Given the description of an element on the screen output the (x, y) to click on. 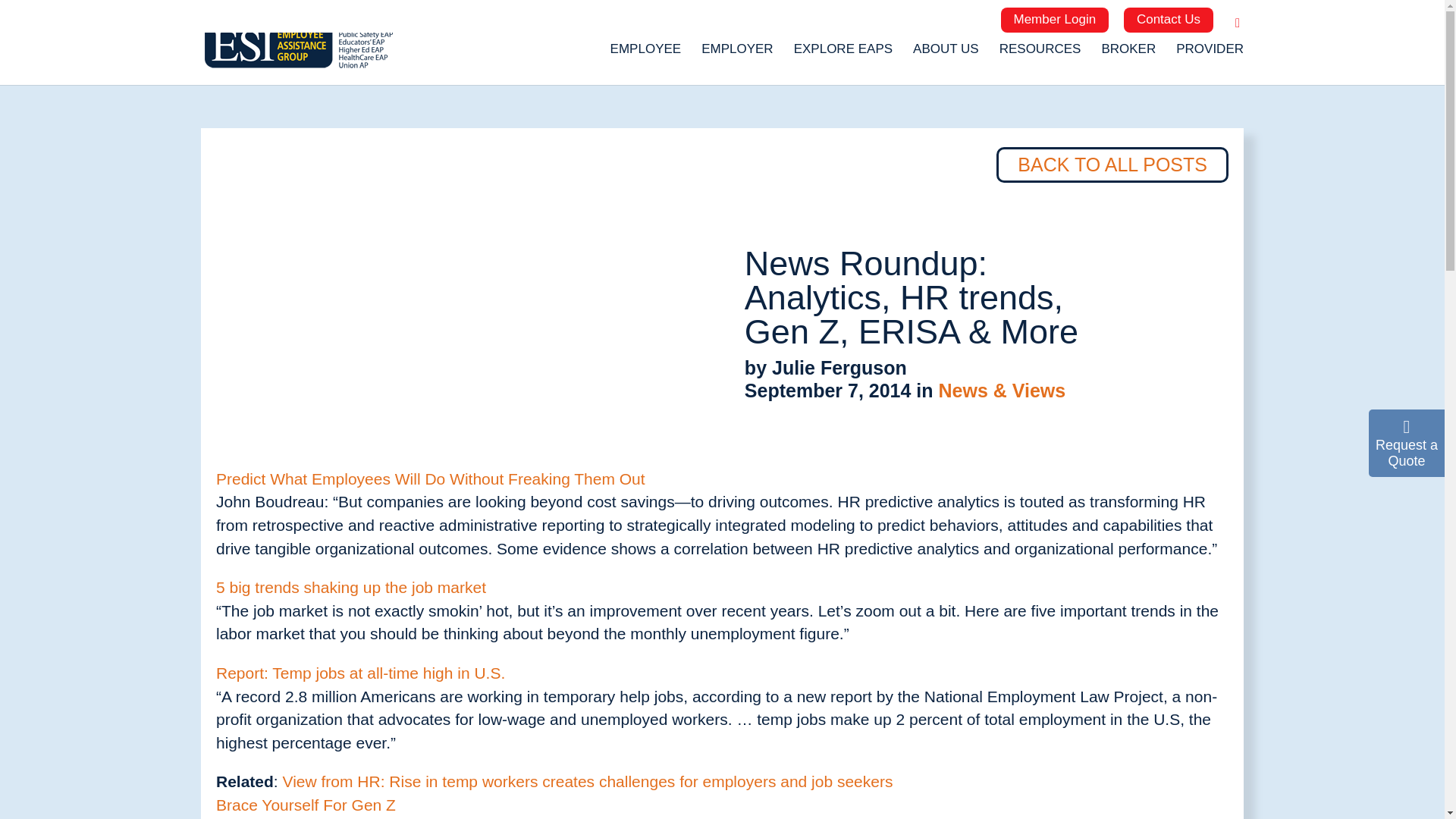
Predict What Employees Will Do Without Freaking Them Out (430, 478)
Report: Temp jobs at all-time high in U.S. (360, 672)
PROVIDER (1209, 55)
BACK TO ALL POSTS (1111, 164)
Member Login (1055, 19)
Contact Us (1168, 19)
EXPLORE EAPS (842, 55)
EMPLOYEE (645, 55)
EMPLOYER (737, 55)
